Given the description of an element on the screen output the (x, y) to click on. 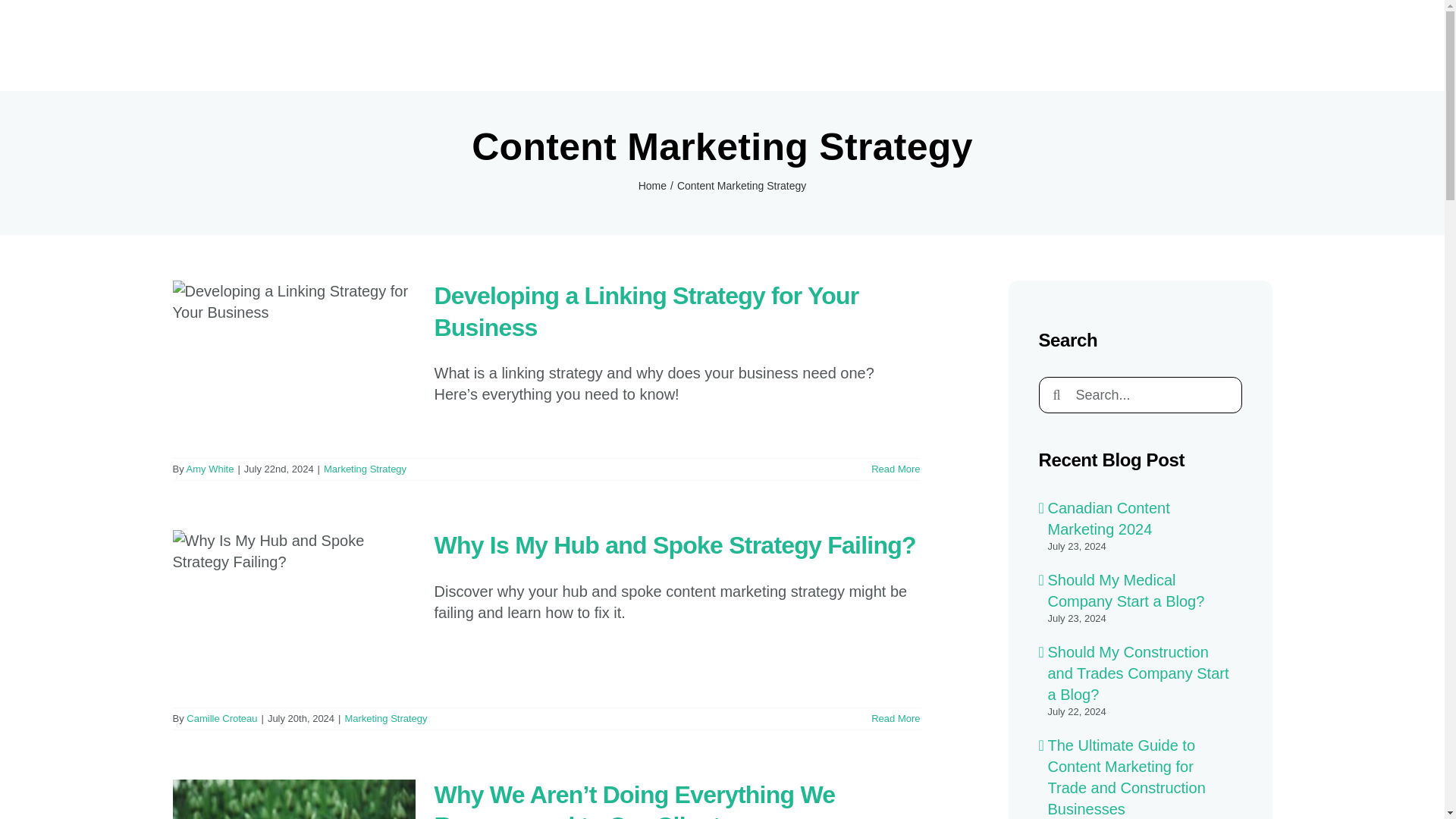
Marketing Strategy (364, 469)
Posts by Camille Croteau (221, 717)
Read More (895, 469)
Amy White (210, 469)
Developing a Linking Strategy for Your Business (646, 311)
Home (652, 185)
Posts by Amy White (210, 469)
